Given the description of an element on the screen output the (x, y) to click on. 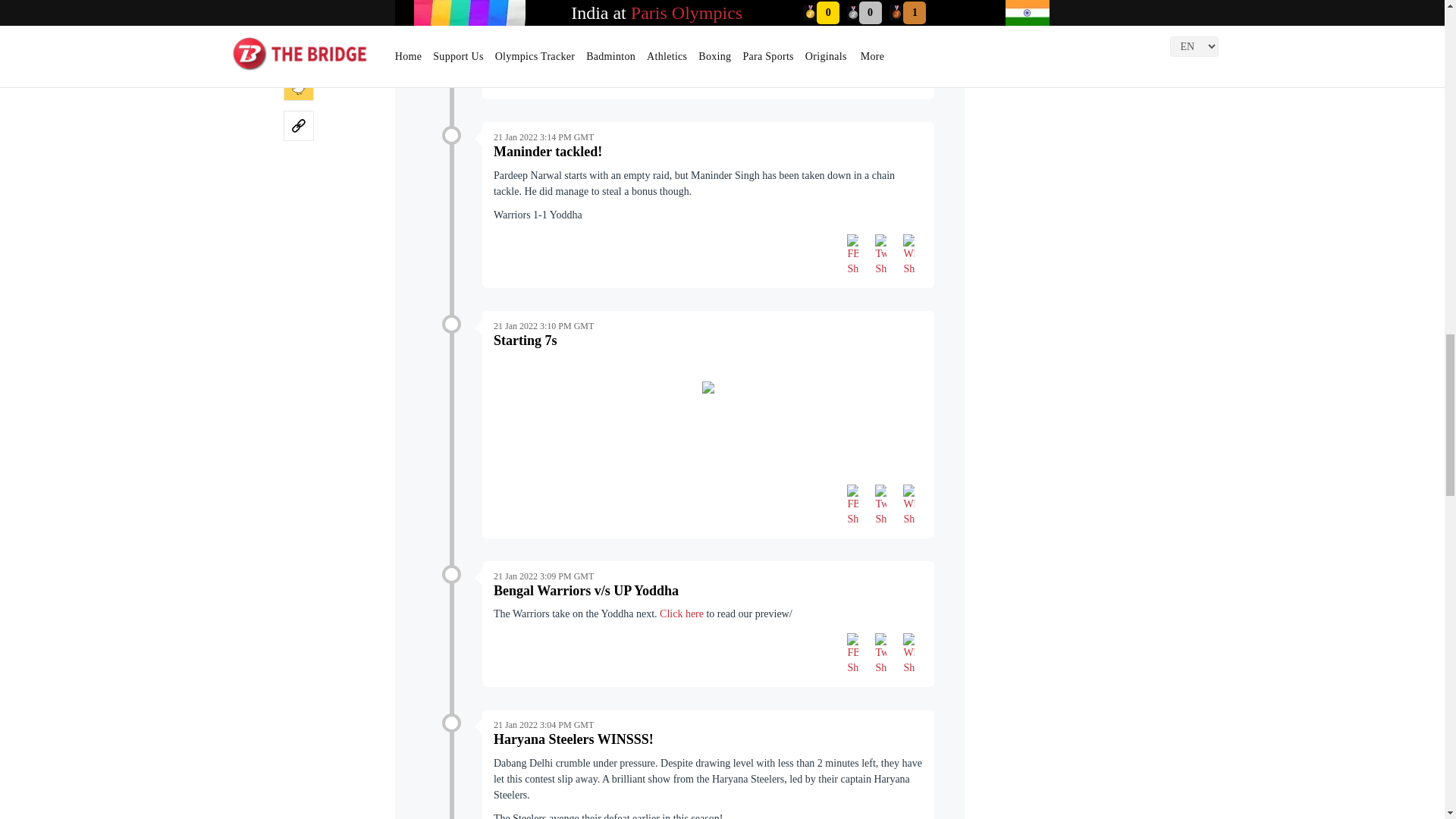
Whatsapp Share (908, 66)
Twitter (880, 504)
Facebook (853, 65)
Whatsapp Share (908, 255)
FB Share (853, 66)
Twitter (880, 65)
Facebook (853, 504)
Twitter Share (880, 66)
Facebook (853, 254)
Twitter Share (880, 255)
FB Share (853, 255)
FB Share (853, 505)
Share by Email (298, 10)
Twitter (880, 254)
